Given the description of an element on the screen output the (x, y) to click on. 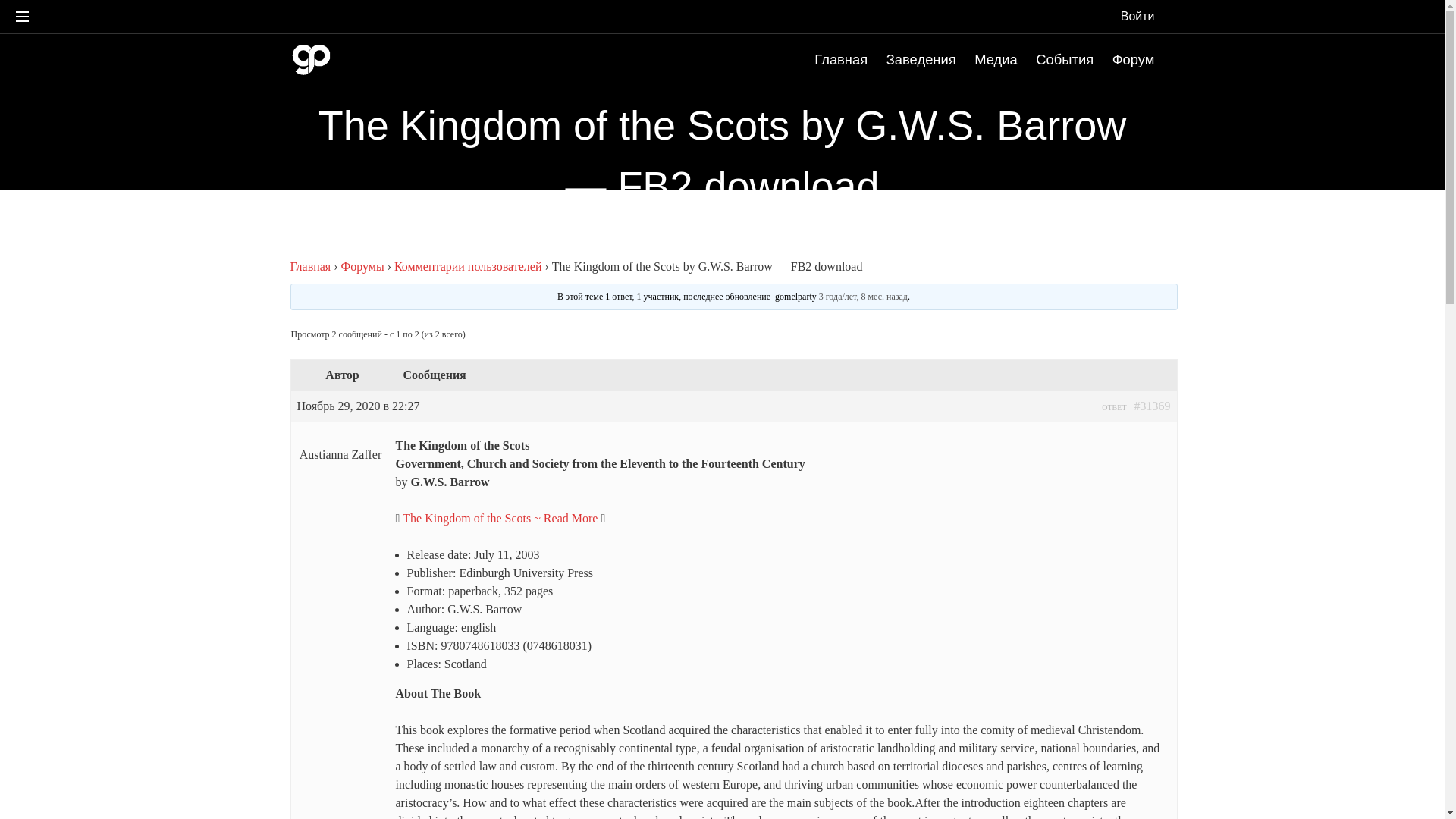
toggle menu (22, 17)
